Given the description of an element on the screen output the (x, y) to click on. 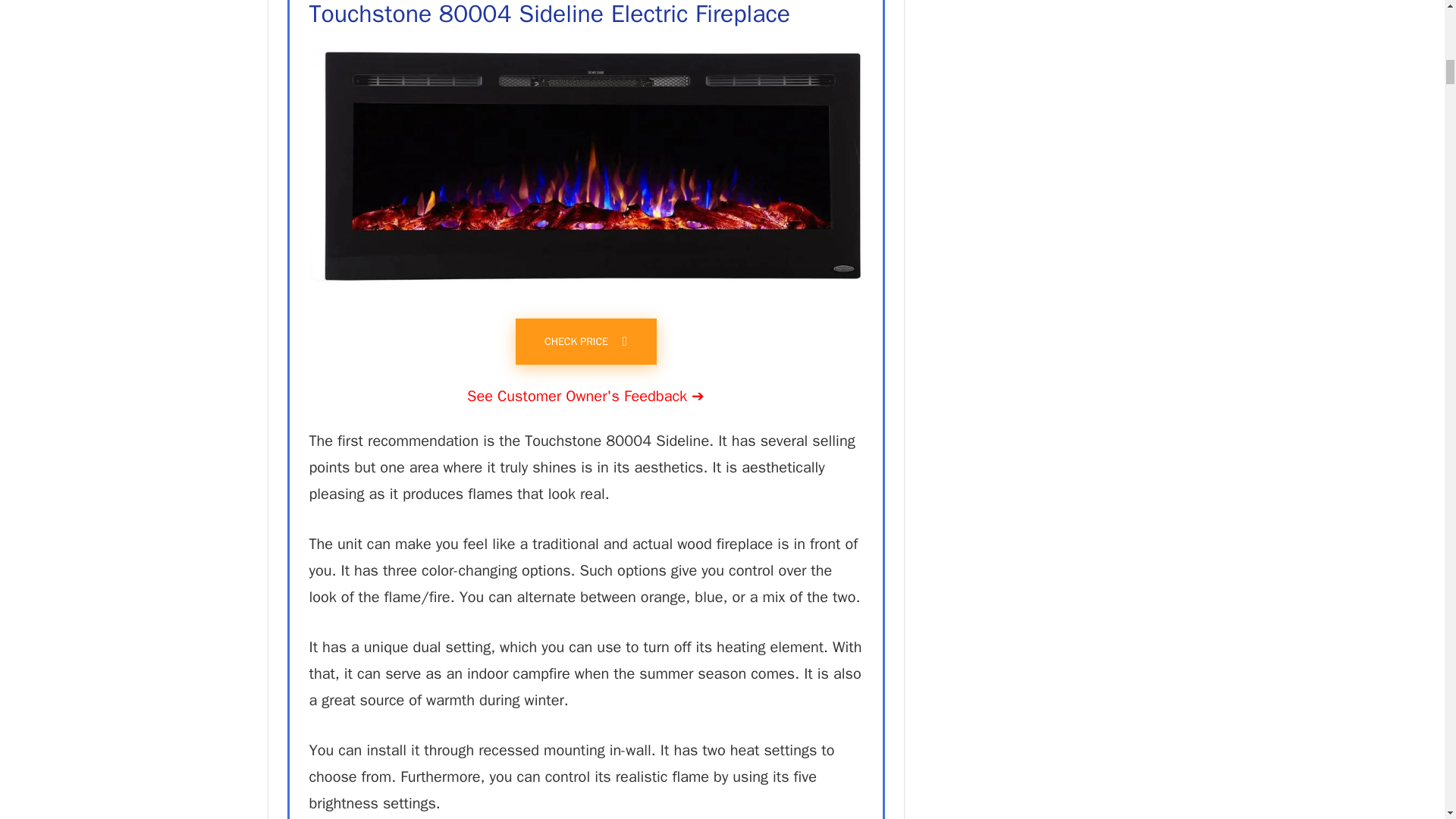
See Customer Owner's Feedback (585, 396)
